Given the description of an element on the screen output the (x, y) to click on. 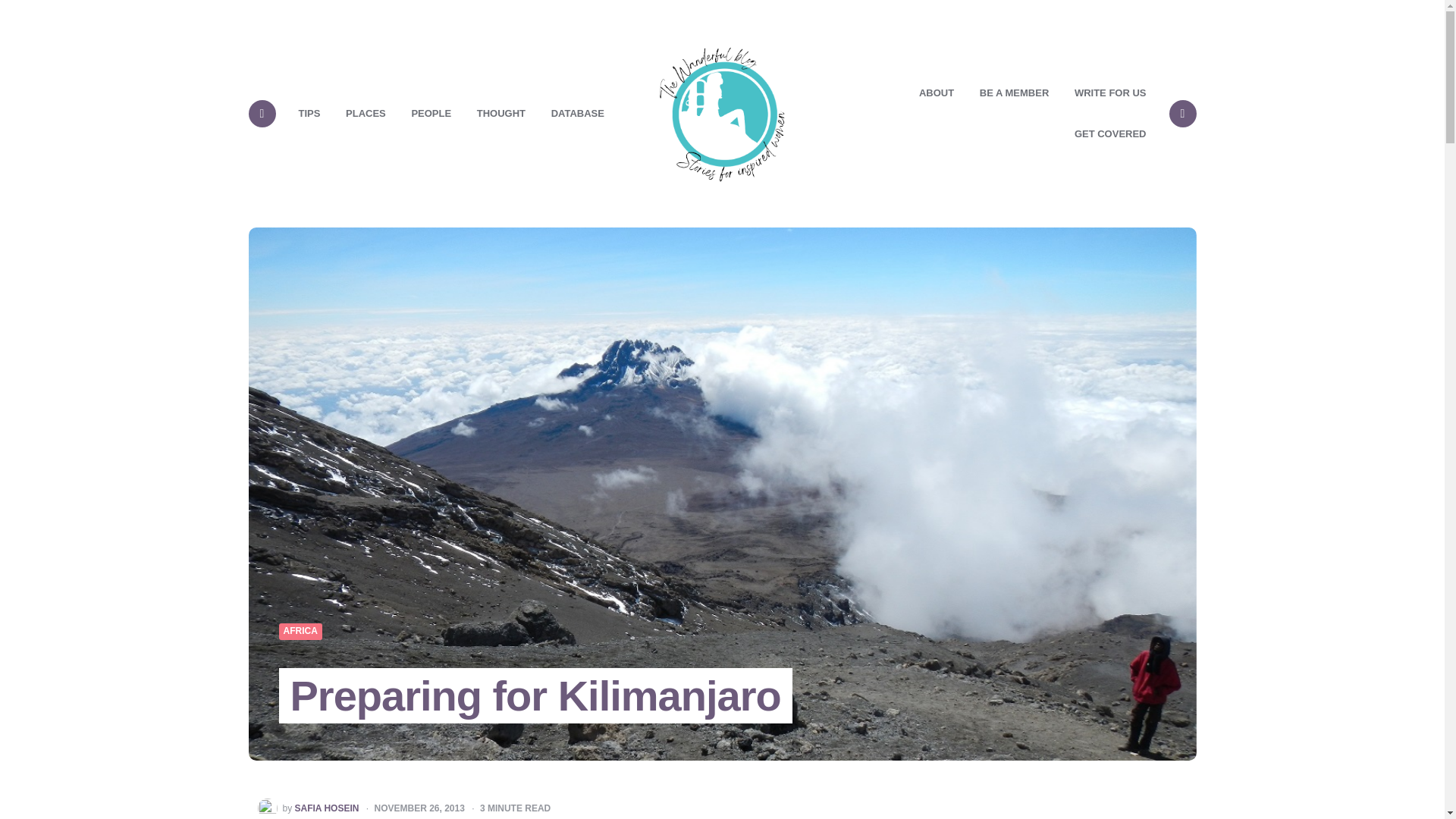
ABOUT (936, 92)
PLACES (365, 113)
WRITE FOR US (1109, 92)
PEOPLE (430, 113)
GET COVERED (1109, 133)
TIPS (308, 113)
THOUGHT (501, 113)
SAFIA HOSEIN (327, 808)
BE A MEMBER (1013, 92)
AFRICA (300, 631)
